Given the description of an element on the screen output the (x, y) to click on. 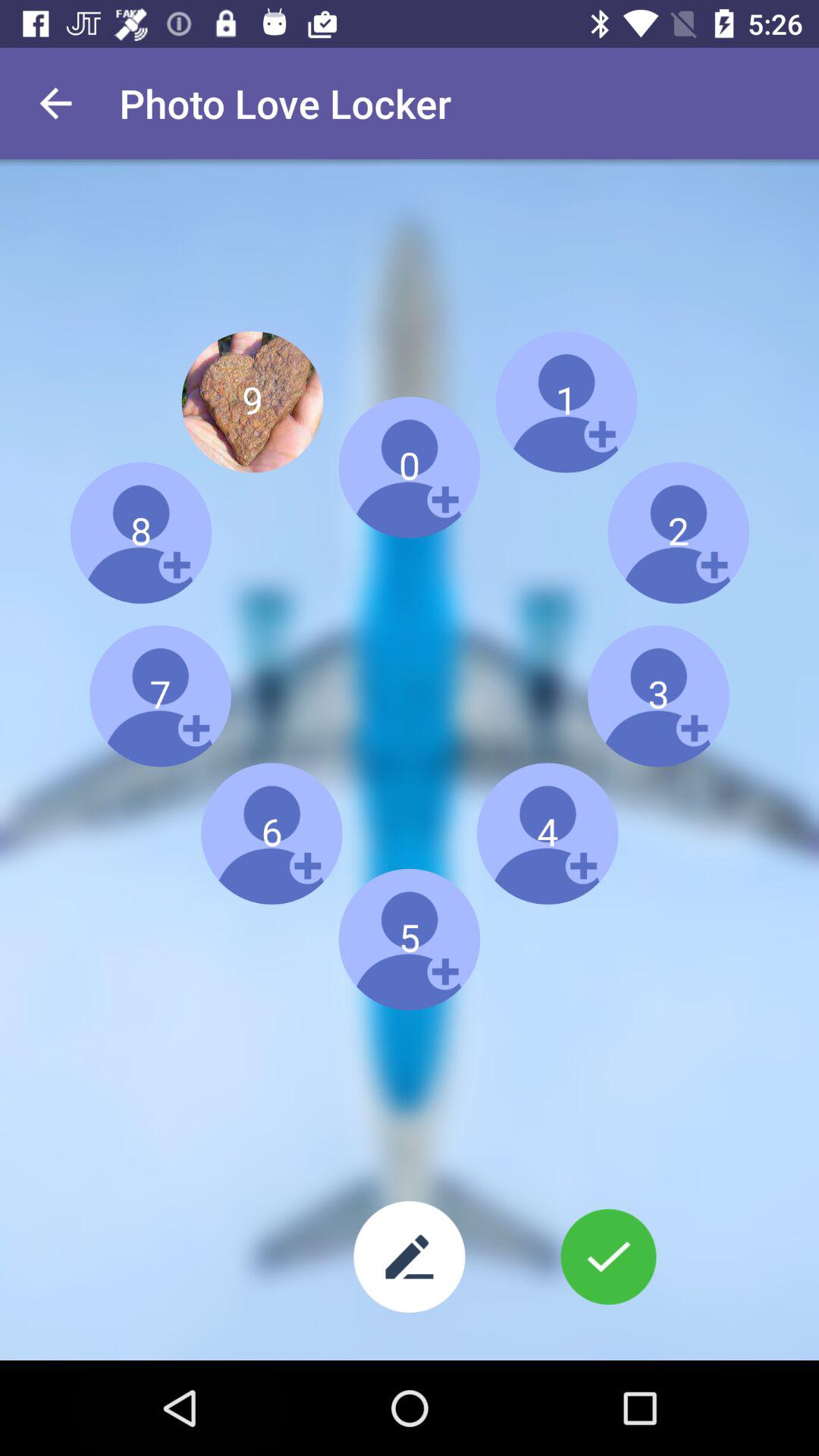
save the configuration (608, 1256)
